Given the description of an element on the screen output the (x, y) to click on. 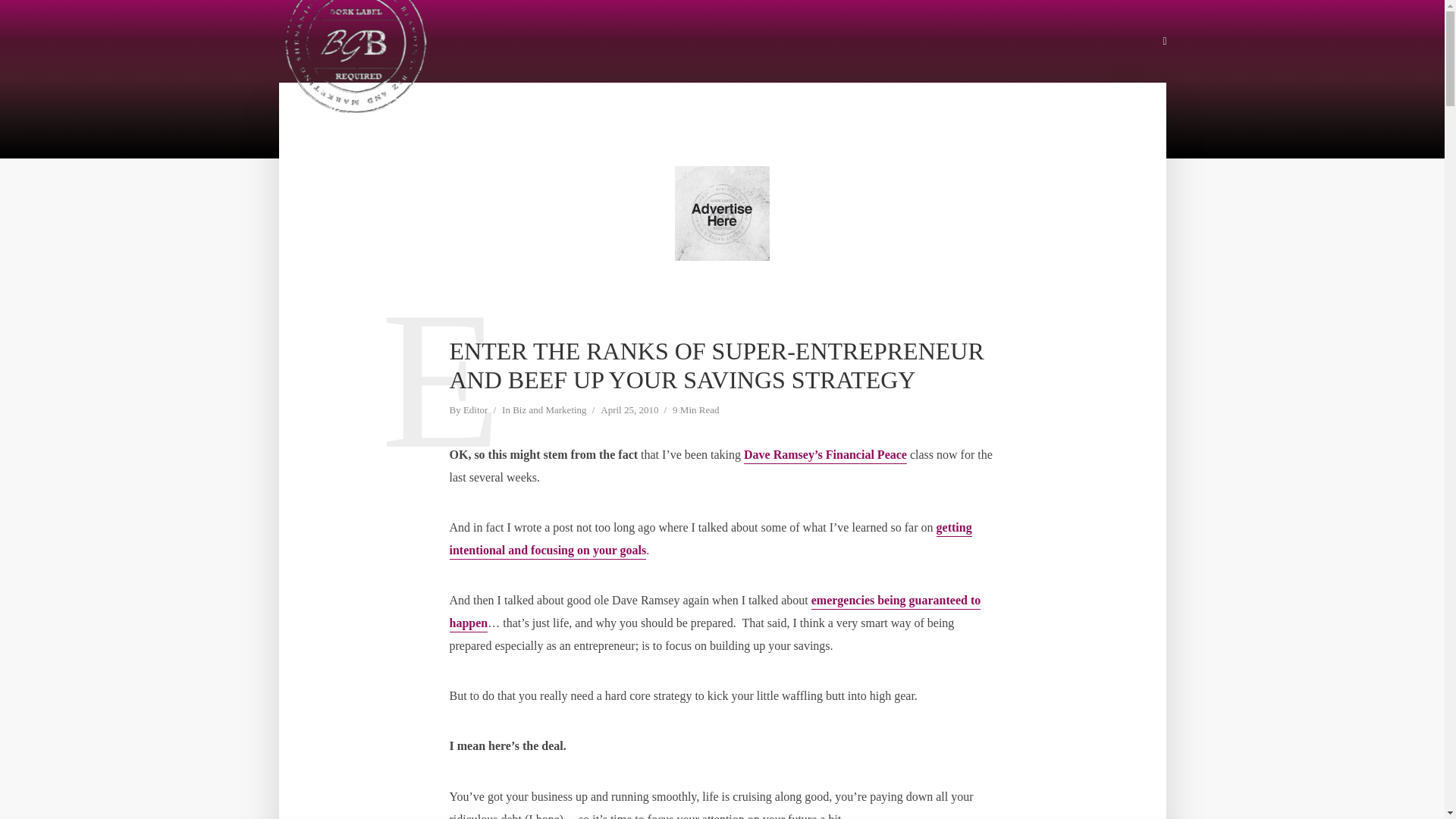
getting intentional and focusing on your goals (709, 539)
Biz and Marketing (549, 411)
emergencies being guaranteed to happen (713, 612)
Editor (475, 411)
